Given the description of an element on the screen output the (x, y) to click on. 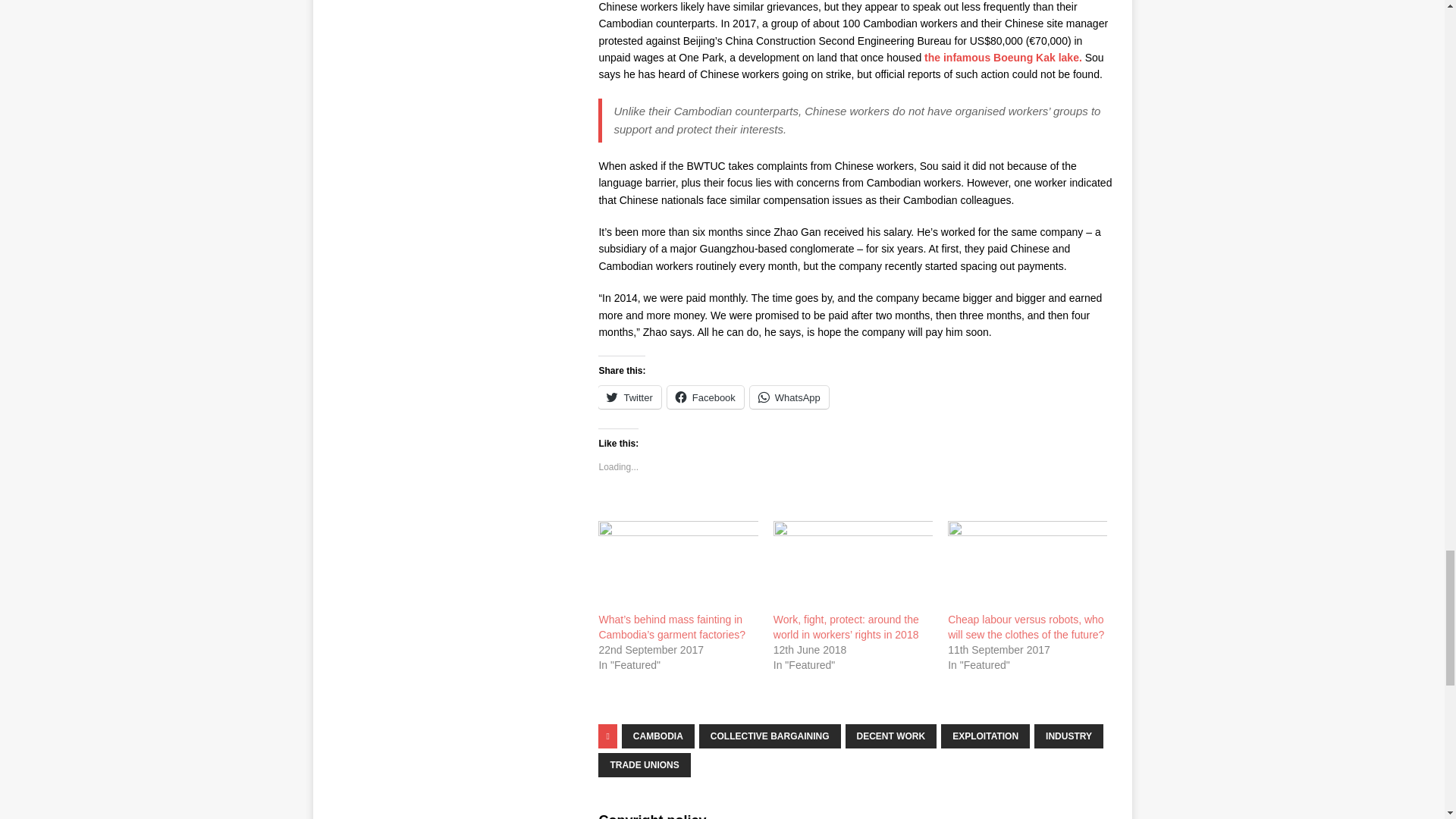
Click to share on Twitter (629, 396)
Click to share on WhatsApp (788, 396)
Click to share on Facebook (705, 396)
